Given the description of an element on the screen output the (x, y) to click on. 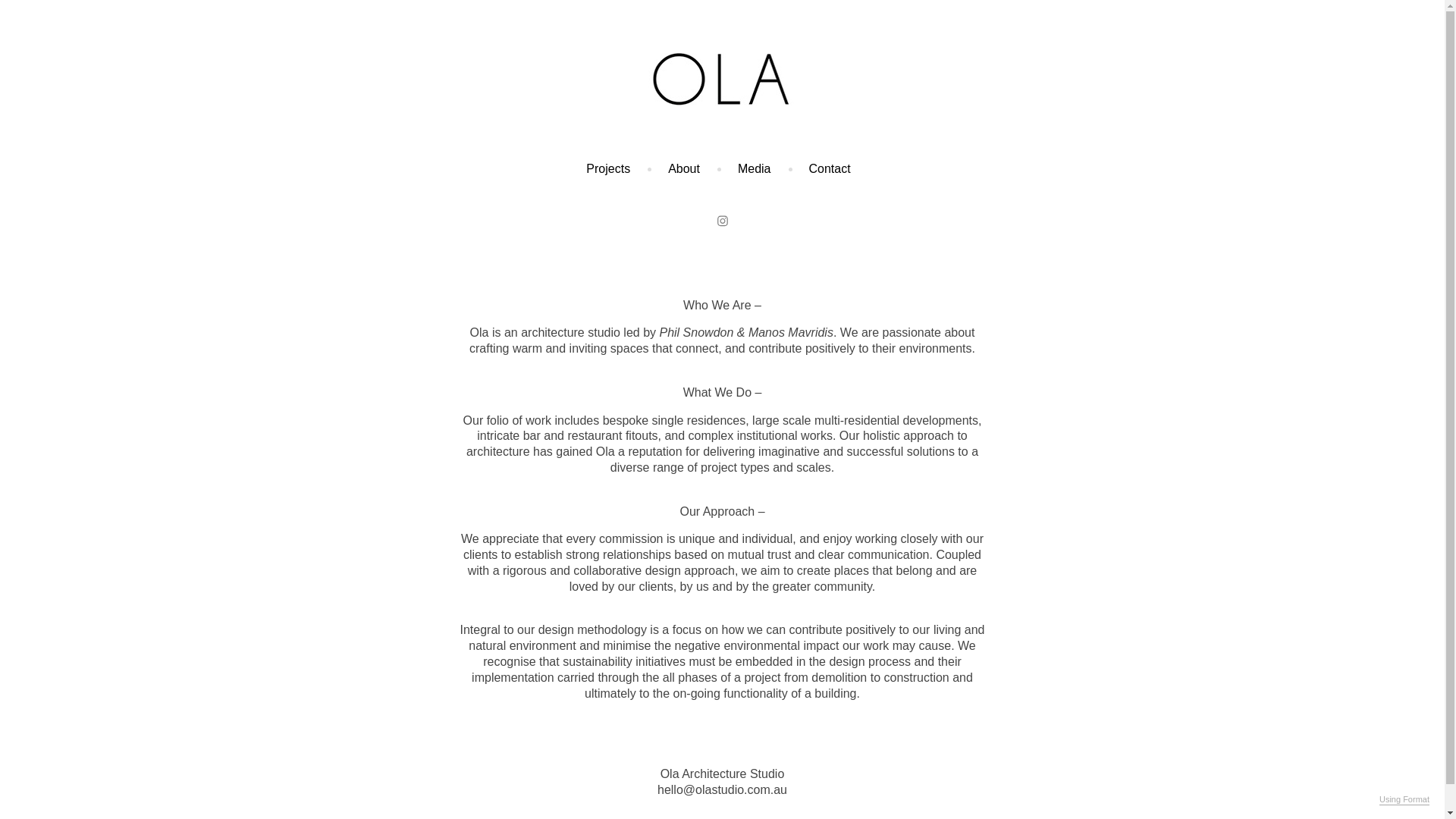
Contact Element type: text (829, 168)
Using Format Element type: text (1404, 799)
Phil Snowdon & Manos Mavridis Element type: text (745, 332)
Projects Element type: text (608, 168)
Media Element type: text (754, 168)
About Element type: text (683, 168)
hello@olastudio.com.au Element type: text (722, 789)
